Given the description of an element on the screen output the (x, y) to click on. 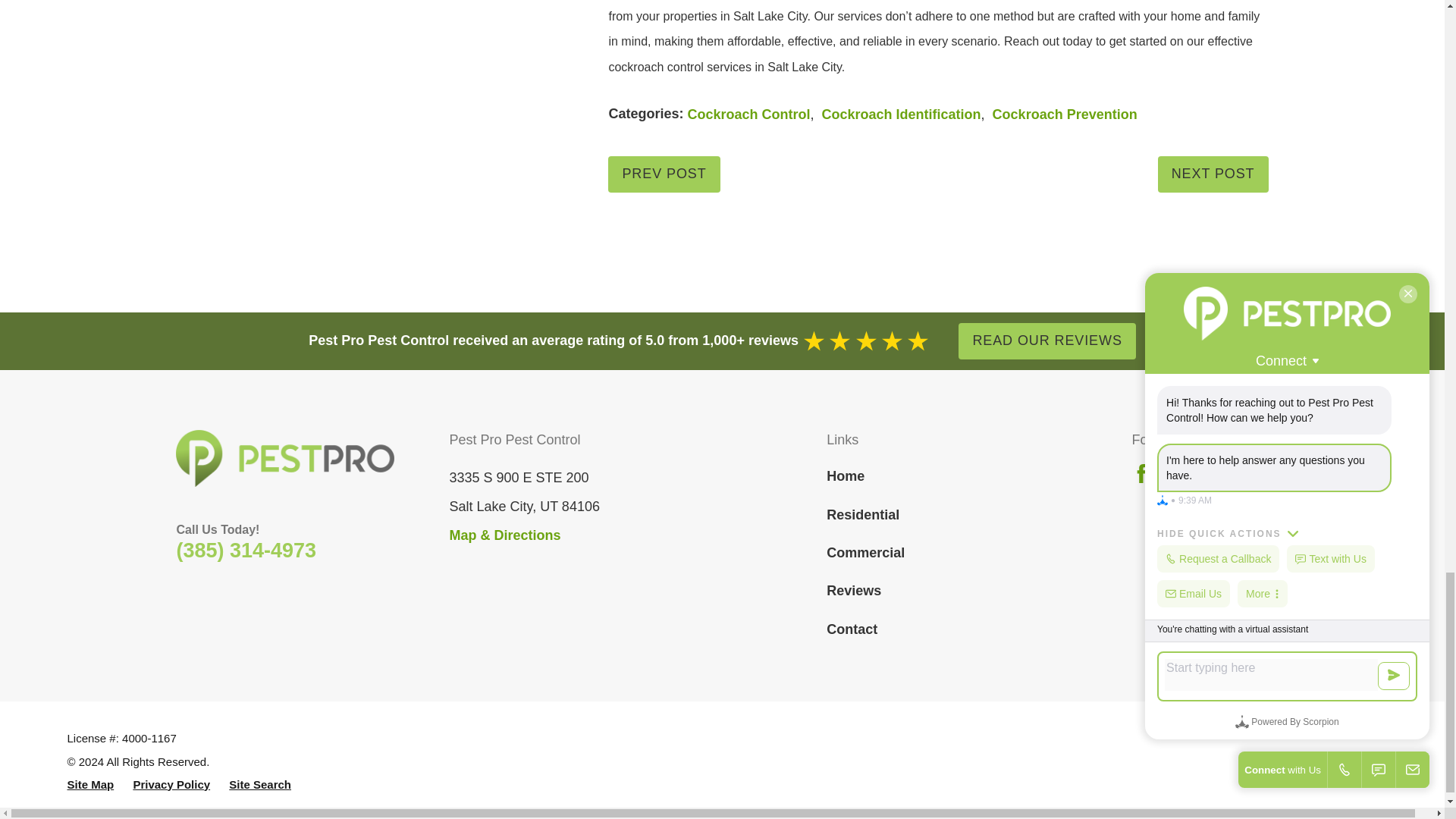
Facebook (1141, 473)
Home (285, 457)
Star Rating (865, 340)
